Given the description of an element on the screen output the (x, y) to click on. 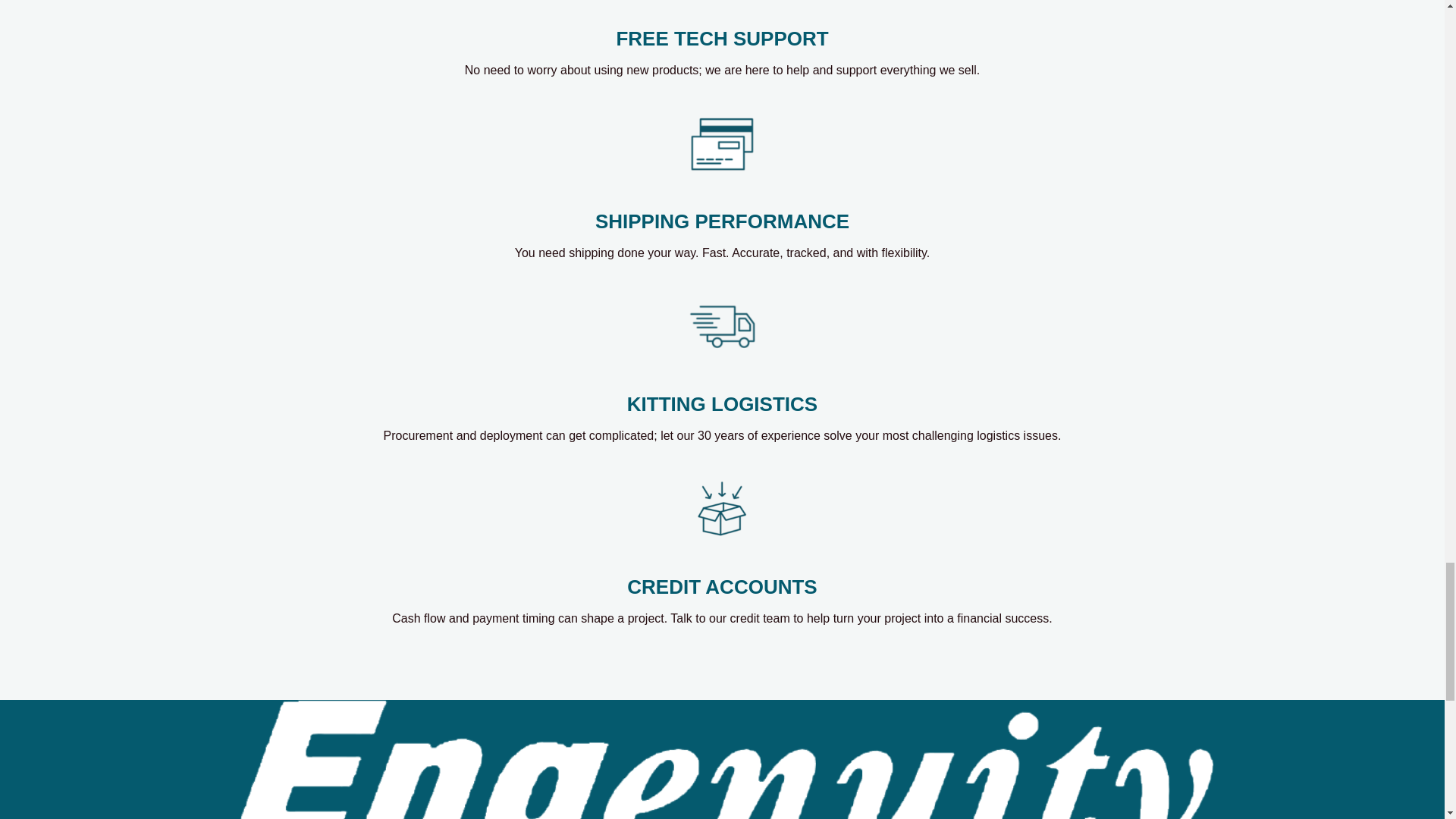
Engenuity Systems, Inc. (721, 759)
